Given the description of an element on the screen output the (x, y) to click on. 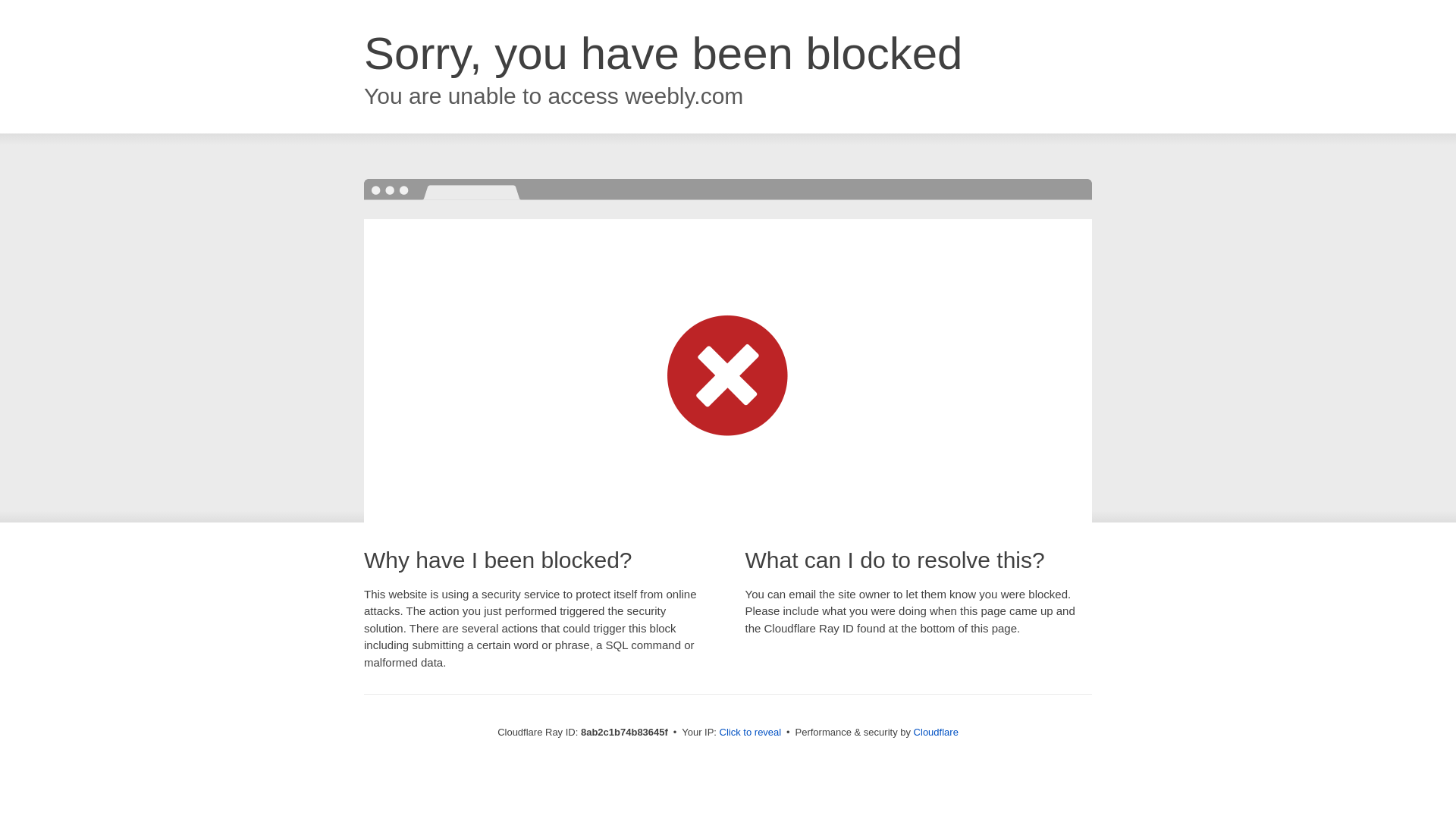
Click to reveal (750, 732)
Cloudflare (936, 731)
